Given the description of an element on the screen output the (x, y) to click on. 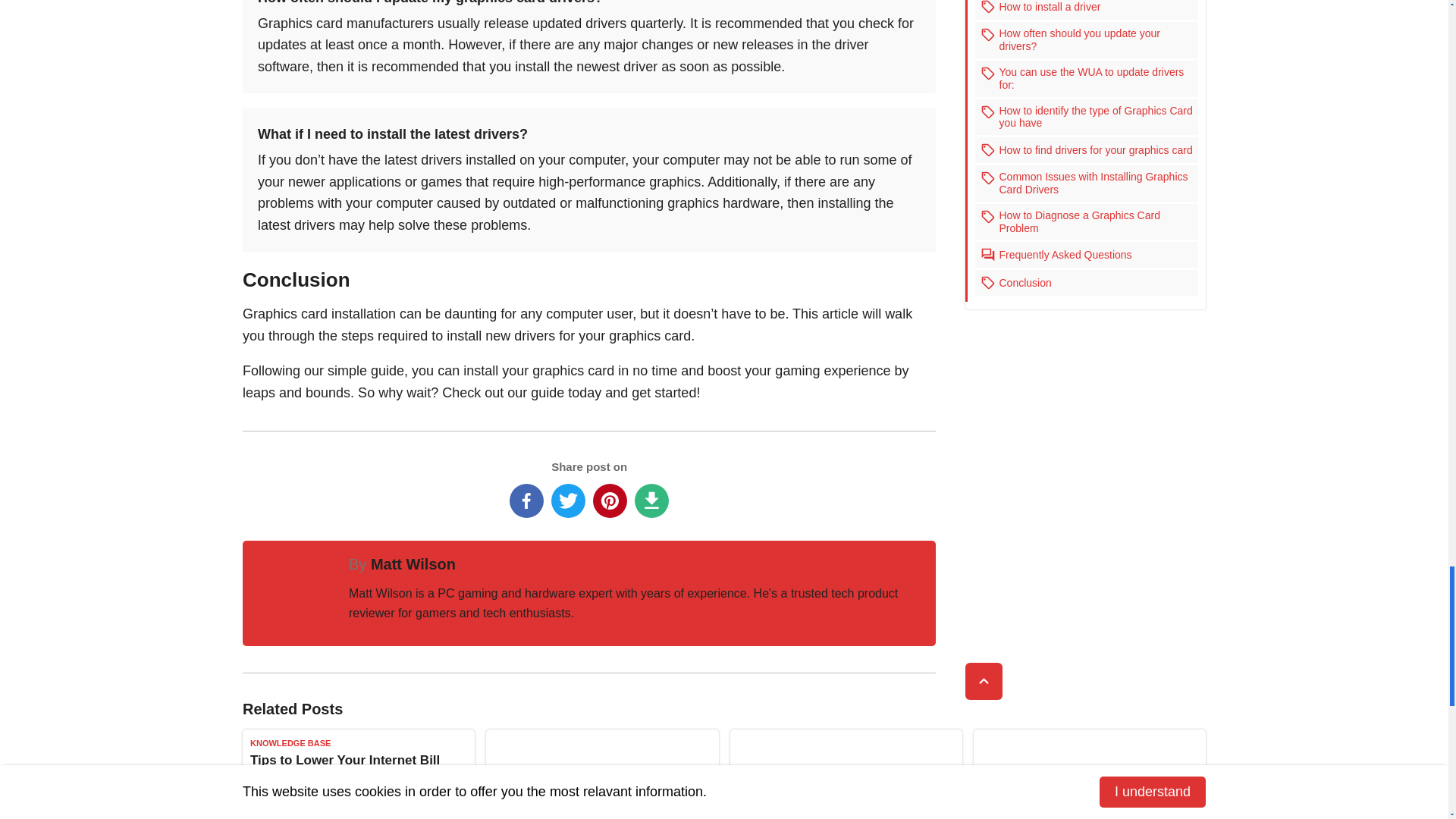
Share on Facebook (526, 500)
Download as PDF (651, 500)
Permanent Link to Test Motherboards Without A CPU (844, 774)
Permanent Link to Can PCI-E X4 Card Fit In X16 Slot? (1089, 774)
Share on Twitter (568, 500)
Permanent Link to Tips to Lower Your Internet Bill (358, 774)
Share on Pinterest (609, 500)
